Given the description of an element on the screen output the (x, y) to click on. 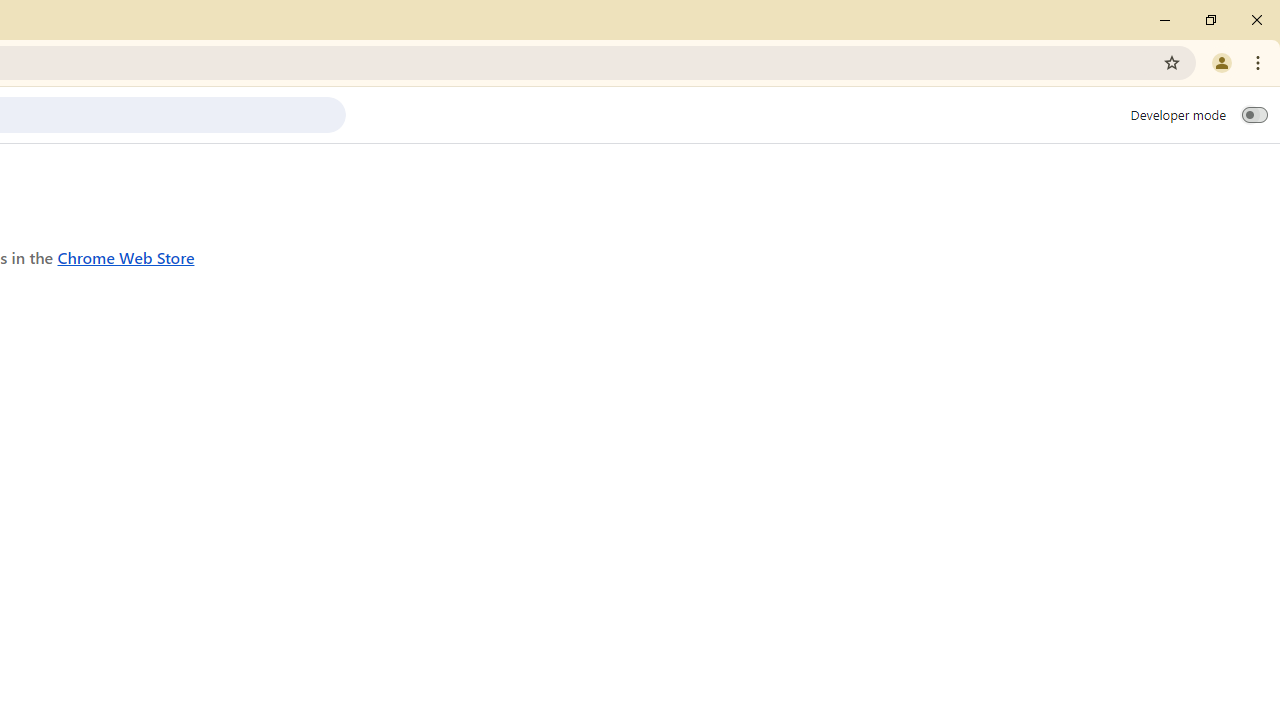
Developer mode (1254, 114)
Chrome Web Store (125, 256)
